Given the description of an element on the screen output the (x, y) to click on. 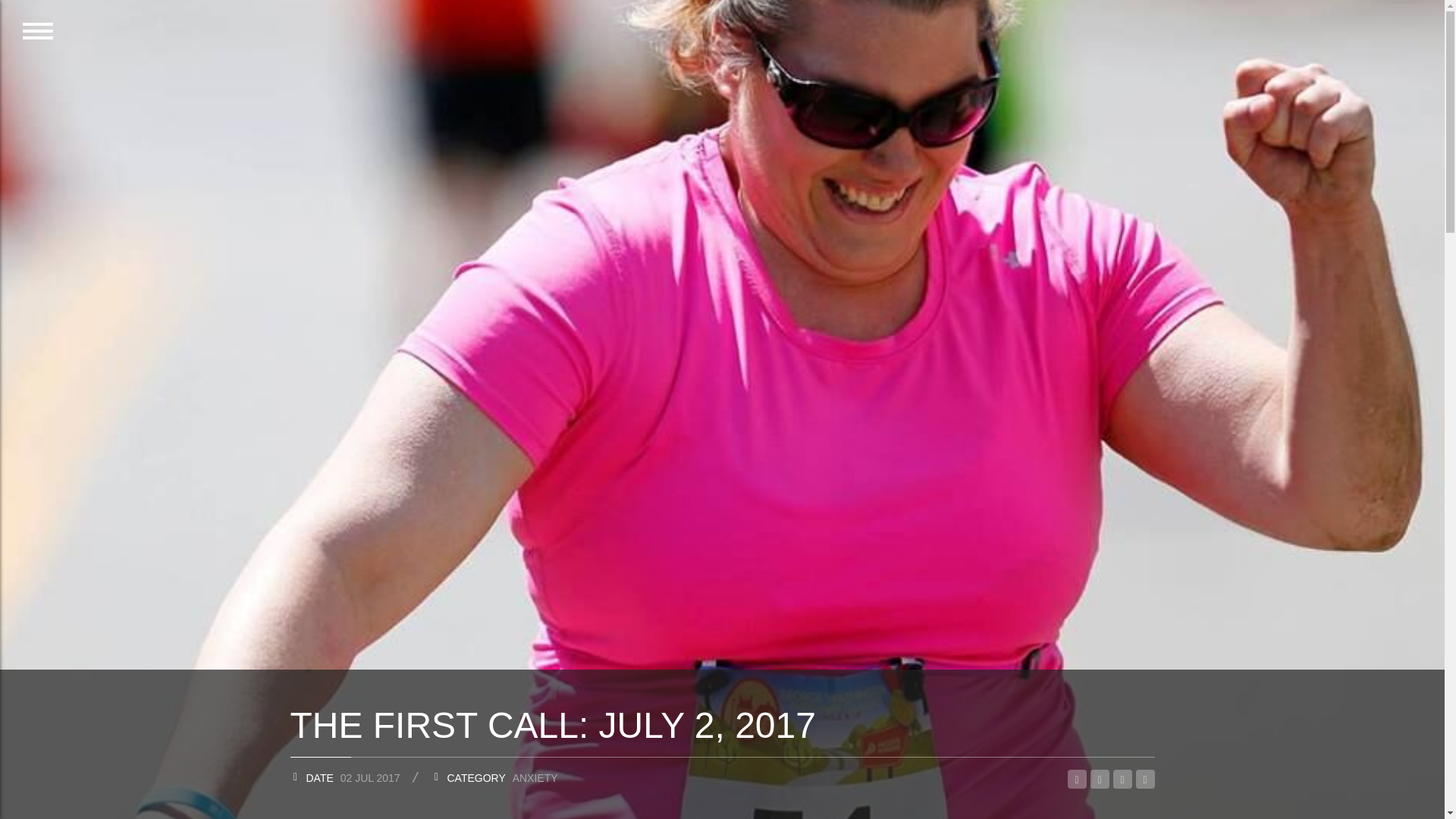
02 JUL 2017 (370, 777)
ANXIETY (534, 777)
